Given the description of an element on the screen output the (x, y) to click on. 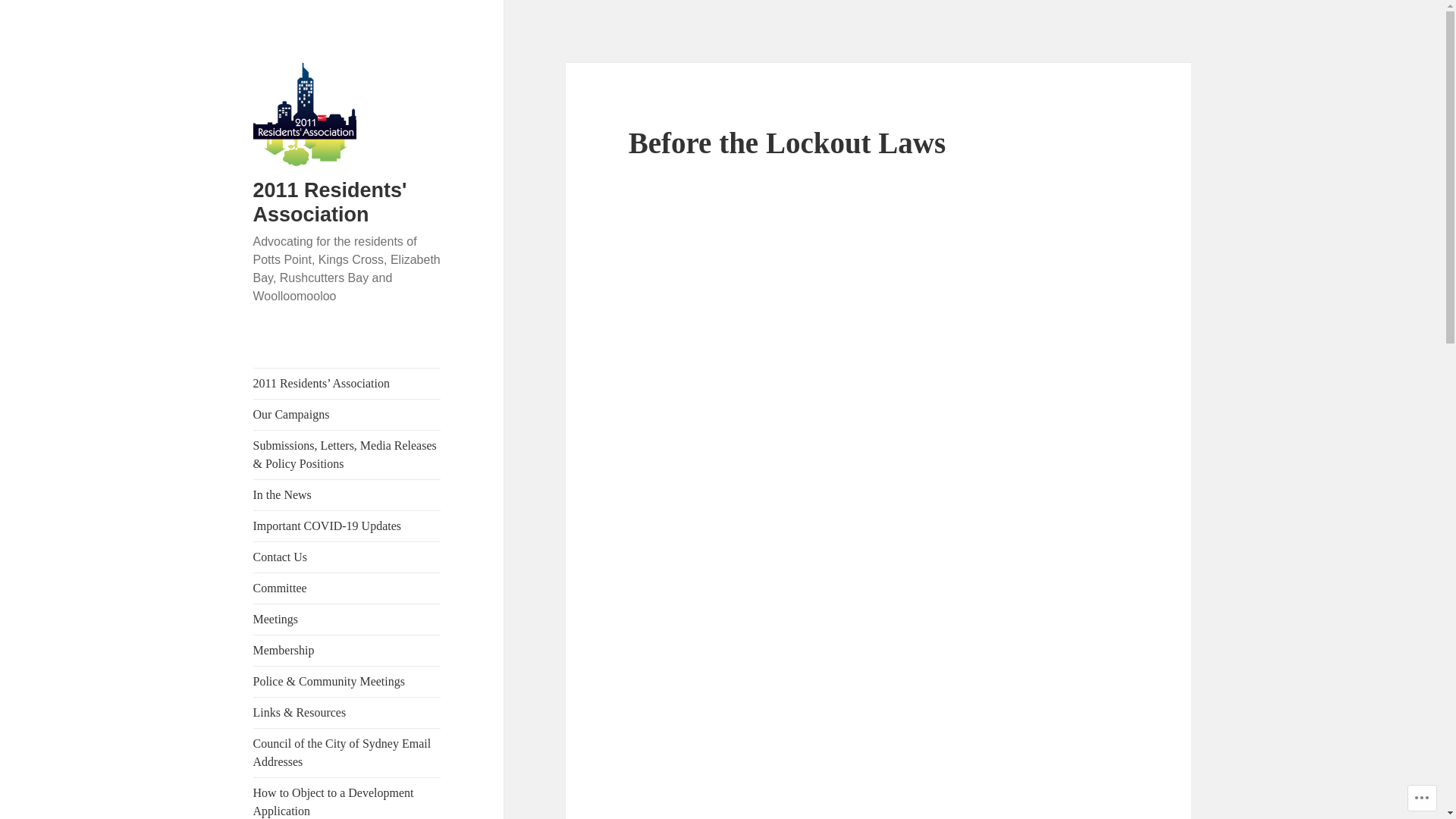
Membership Element type: text (347, 650)
In the News Element type: text (347, 495)
Committee Element type: text (347, 588)
Council of the City of Sydney Email Addresses Element type: text (347, 752)
Submissions, Letters, Media Releases & Policy Positions Element type: text (347, 454)
Police & Community Meetings Element type: text (347, 681)
Important COVID-19 Updates Element type: text (347, 526)
Meetings Element type: text (347, 619)
Links & Resources Element type: text (347, 712)
Our Campaigns Element type: text (347, 414)
2011 Residents' Association Element type: text (330, 201)
Contact Us Element type: text (347, 557)
